Given the description of an element on the screen output the (x, y) to click on. 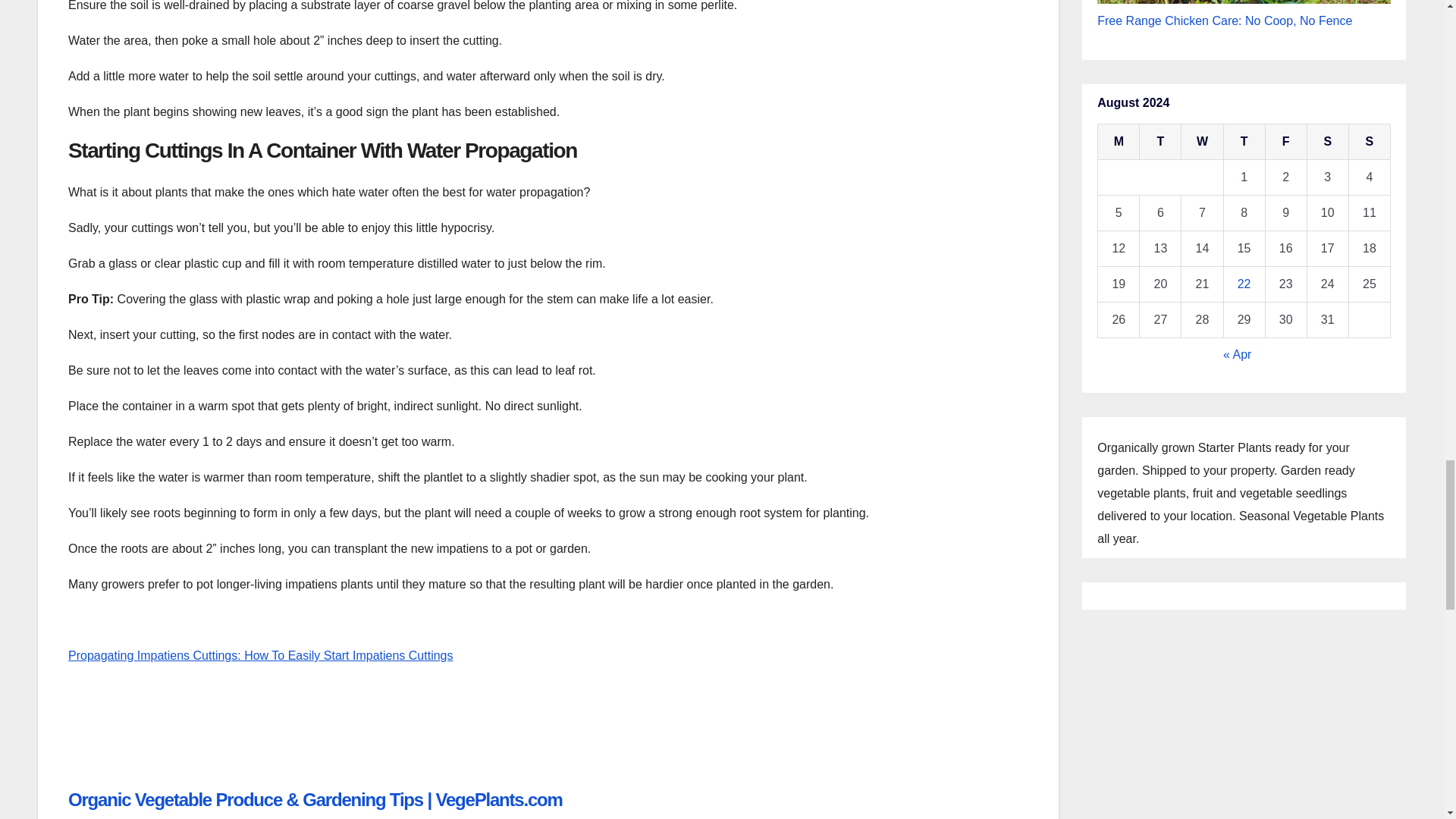
Saturday (1327, 140)
Thursday (1244, 140)
Wednesday (1201, 140)
Tuesday (1160, 140)
Monday (1118, 140)
Sunday (1369, 140)
Friday (1285, 140)
